Given the description of an element on the screen output the (x, y) to click on. 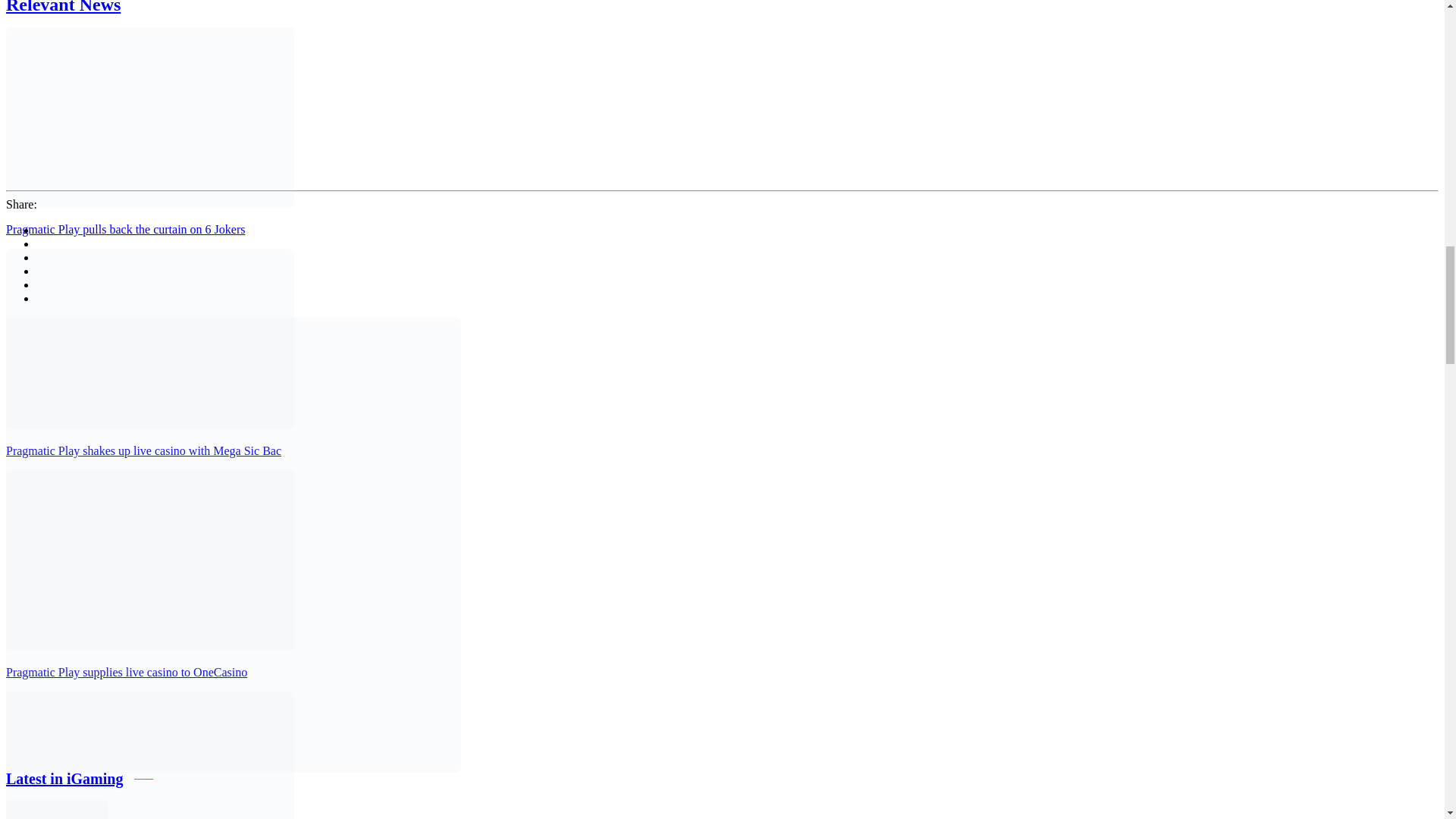
Relevant News (62, 7)
Pragmatic Play pulls back the curtain on 6 Jokers (124, 228)
